Given the description of an element on the screen output the (x, y) to click on. 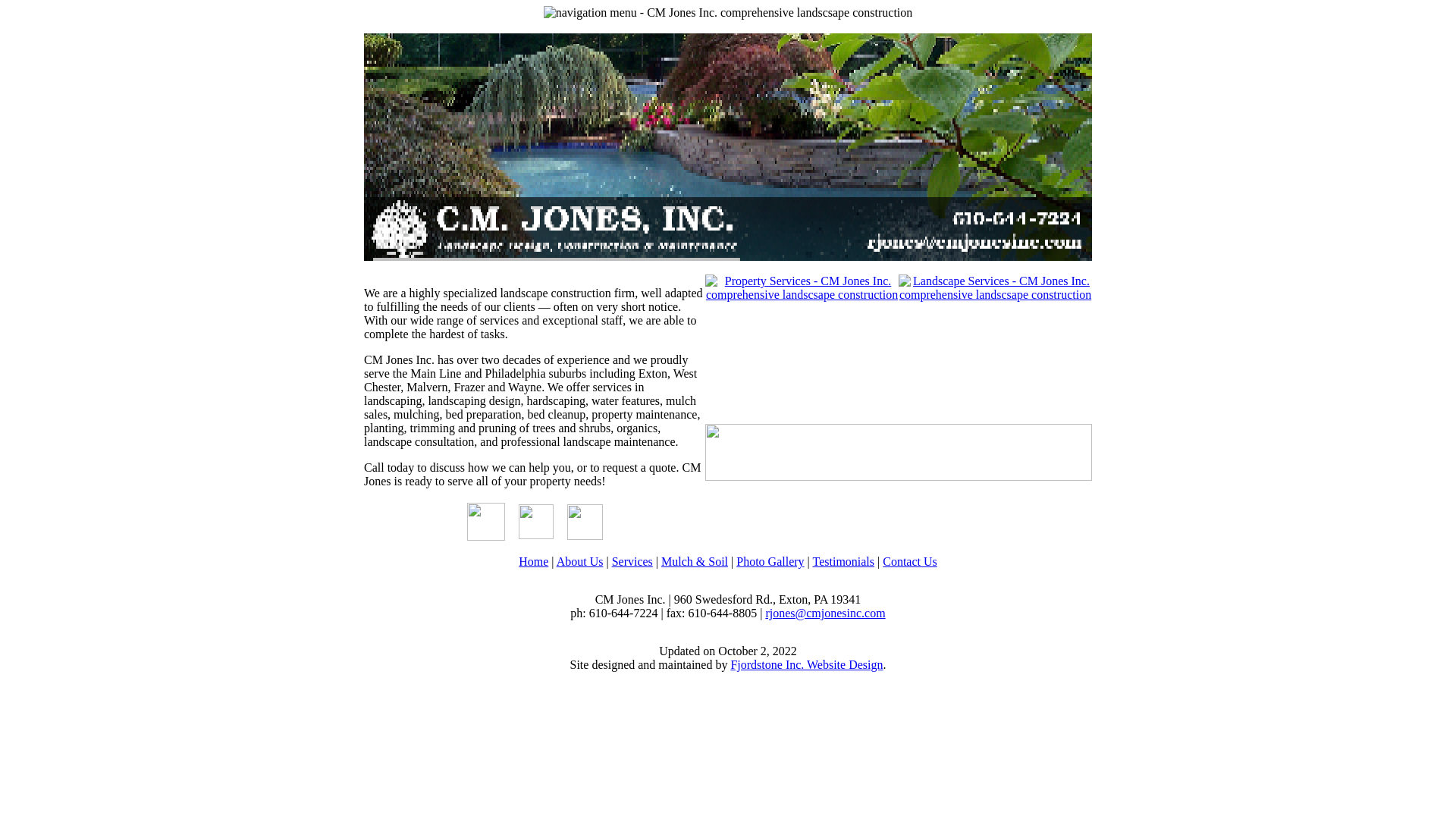
Photo Gallery (769, 561)
Fjordstone Inc. Website Design (806, 664)
About Us (580, 561)
Services (631, 561)
Testimonials (843, 561)
Home (533, 561)
Contact Us (909, 561)
